Given the description of an element on the screen output the (x, y) to click on. 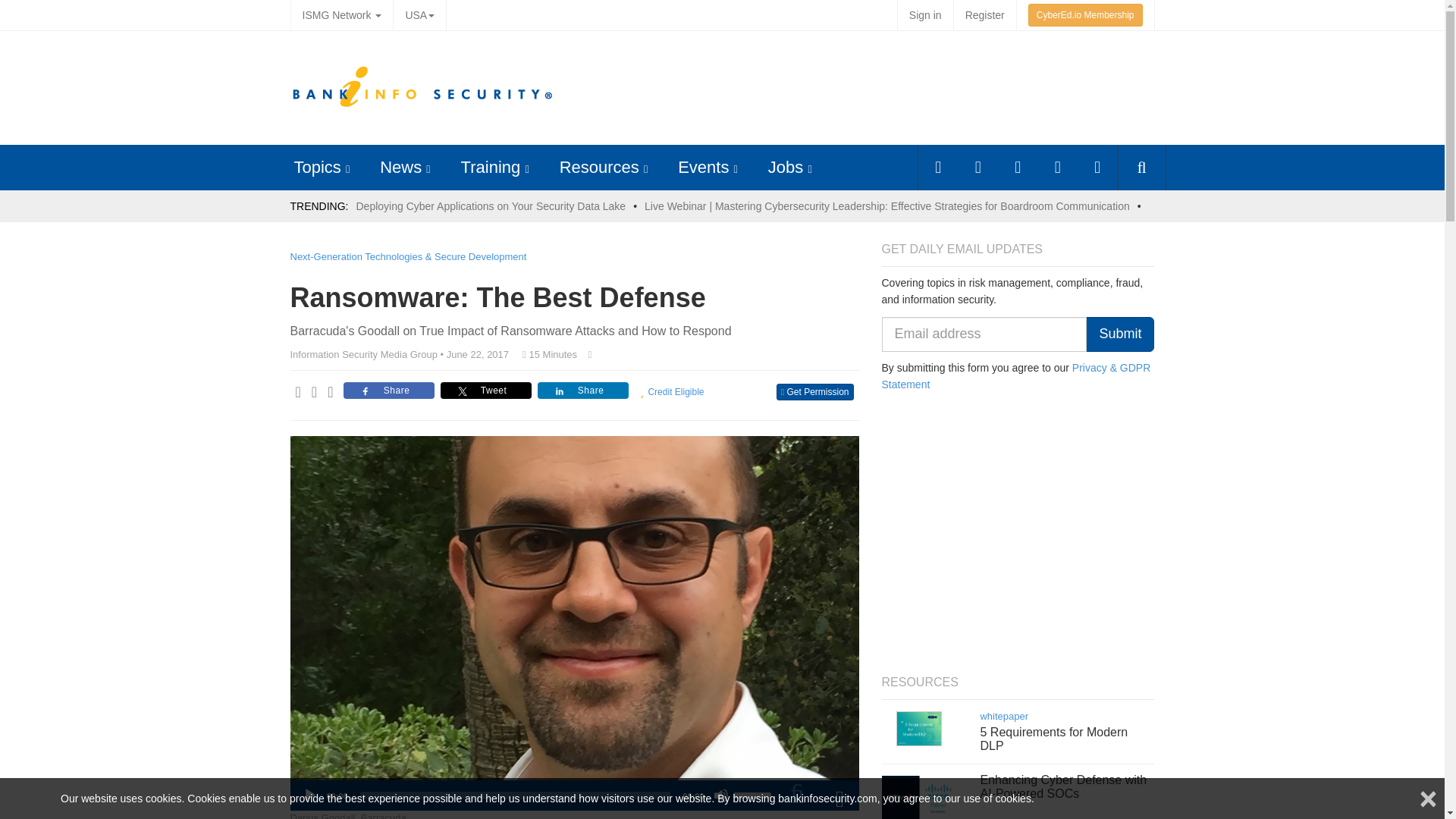
Register (984, 15)
USA (418, 15)
ISMG Network (341, 15)
Sign in (925, 15)
CyberEd.io Membership (1084, 15)
Topics (317, 167)
3rd party ad content (873, 88)
